Given the description of an element on the screen output the (x, y) to click on. 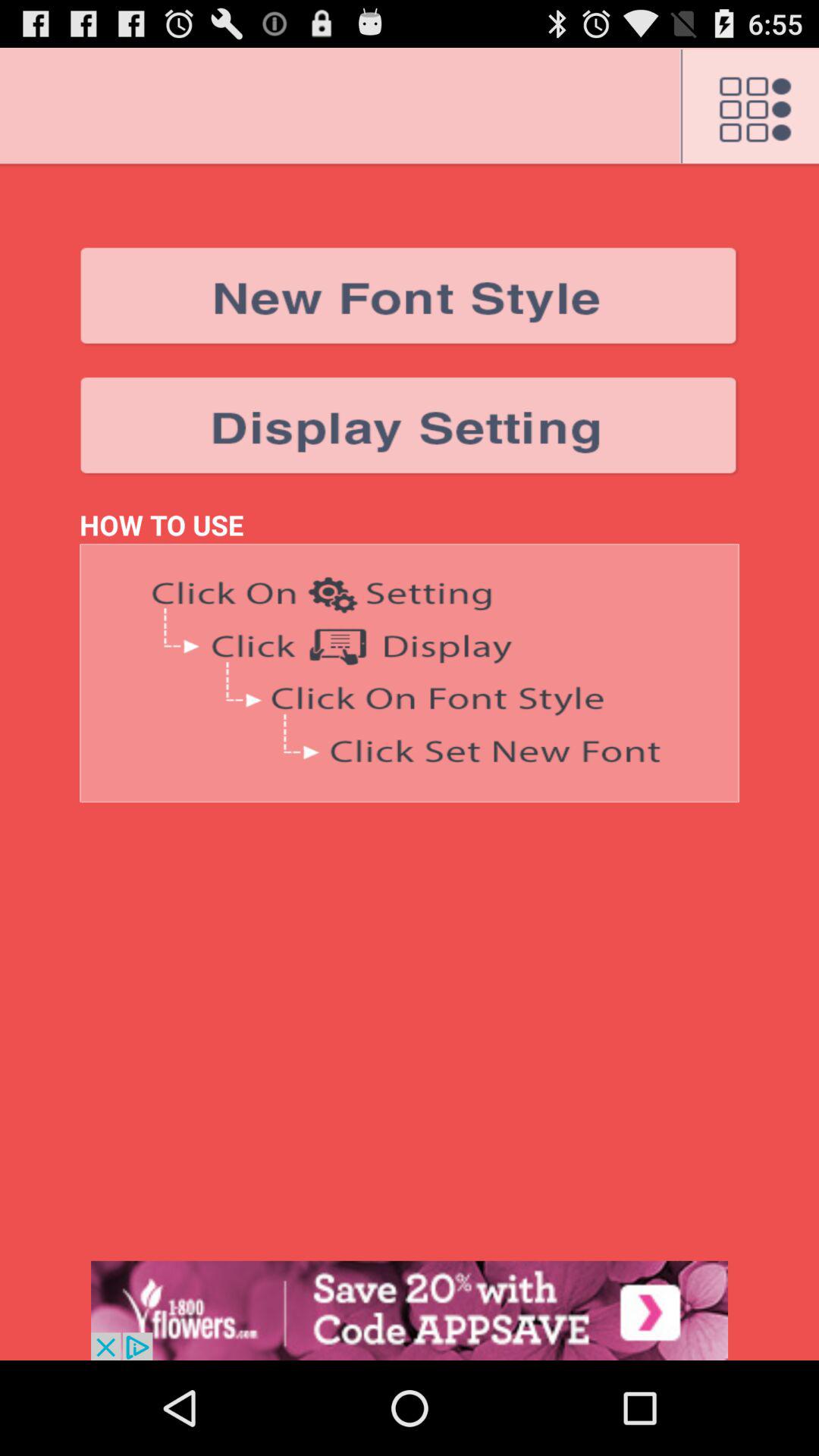
change display settings (409, 426)
